Given the description of an element on the screen output the (x, y) to click on. 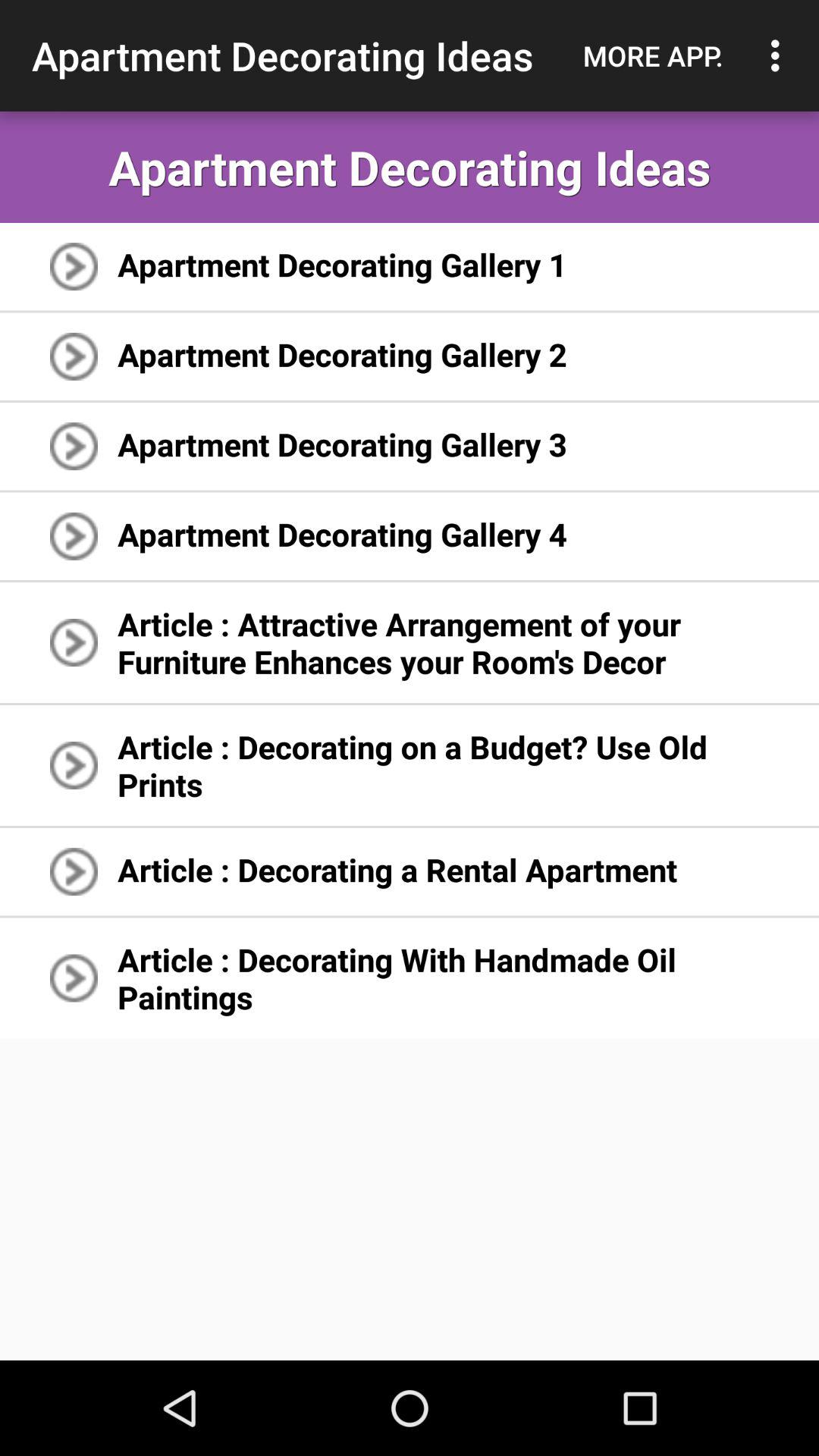
select first arrow from top (73, 266)
click on right arrow icon in third option from bottom (73, 765)
